Given the description of an element on the screen output the (x, y) to click on. 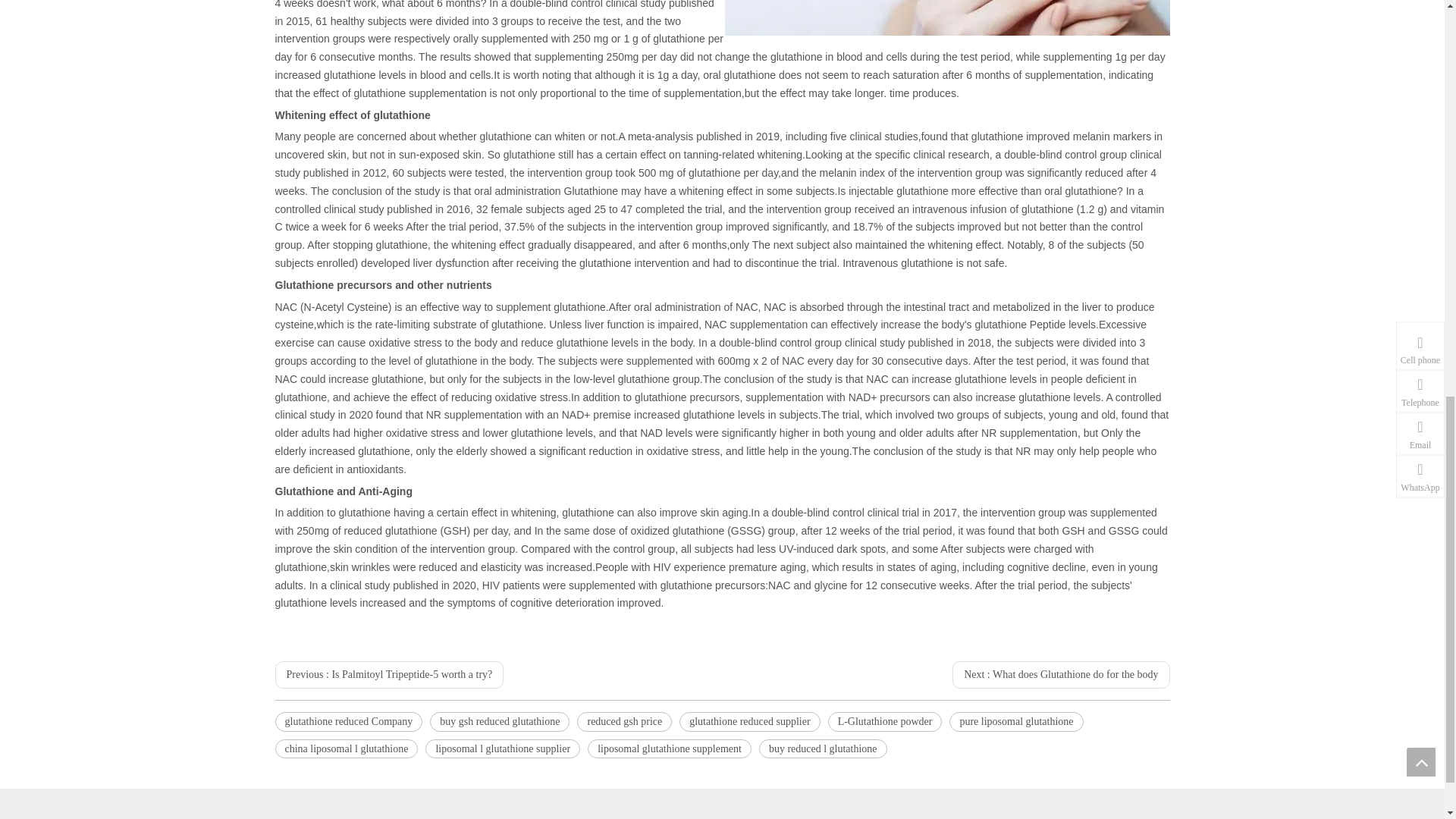
reduced gsh price (623, 721)
buy gsh reduced glutathione (499, 721)
glutathione reduced Company (348, 721)
pure liposomal glutathione (1016, 721)
china liposomal l glutathione (346, 749)
L-Glutathione powder (885, 721)
reduced gsh price (623, 721)
glutathione reduced supplier (749, 721)
liposomal glutathione supplement (669, 749)
Previous : Is Palmitoyl Tripeptide-5 worth a try? (389, 674)
